Given the description of an element on the screen output the (x, y) to click on. 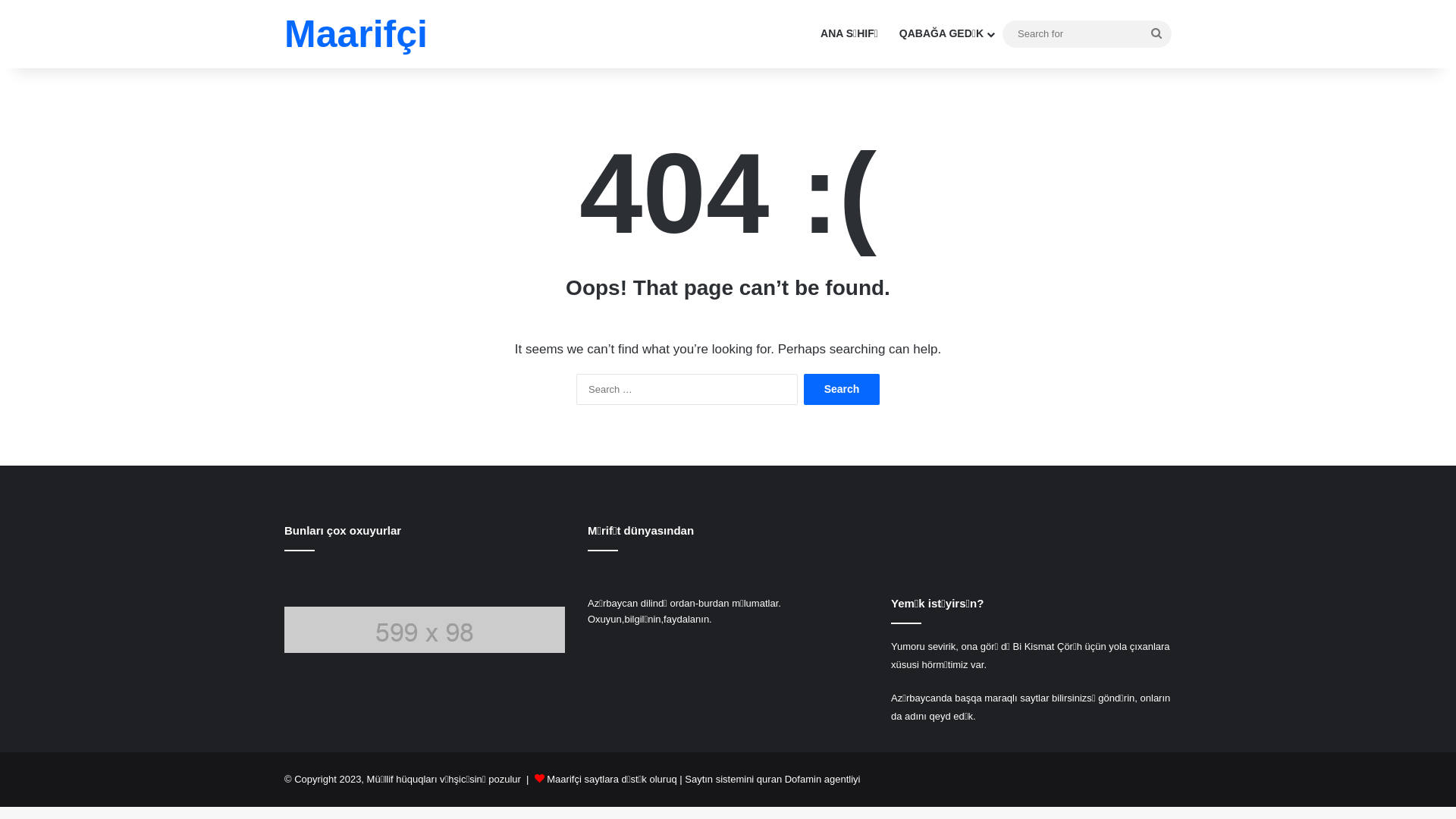
Search for Element type: hover (1086, 32)
Search Element type: text (841, 388)
Dofamin agentliyi Element type: text (822, 778)
Search for Element type: text (1156, 33)
